Given the description of an element on the screen output the (x, y) to click on. 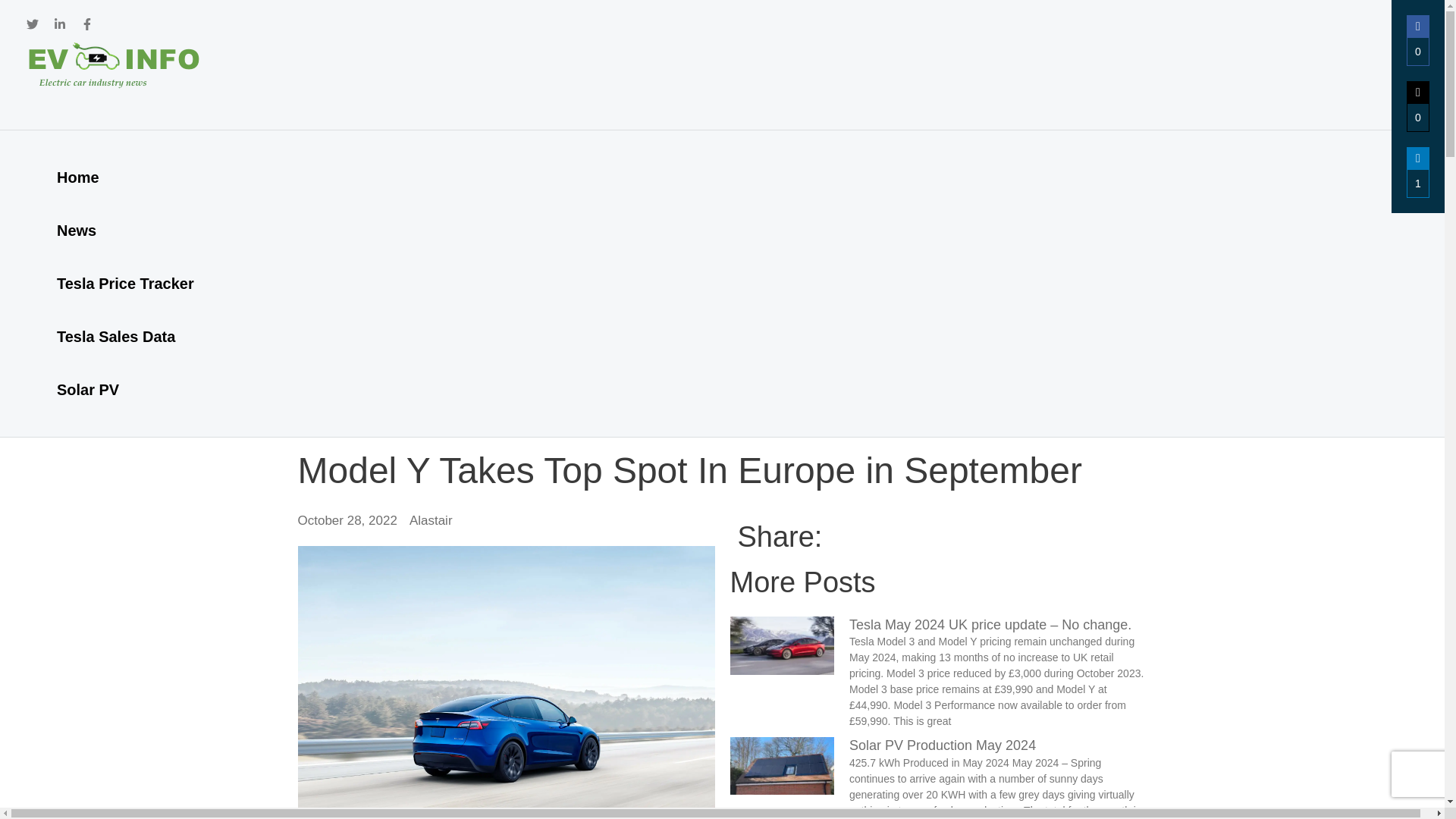
Tesla Sales Data (124, 336)
Alastair (430, 520)
Solar PV (124, 389)
Home (124, 176)
Solar PV Production May 2024 (941, 744)
News (124, 230)
October 28, 2022 (346, 520)
Tesla Price Tracker (124, 283)
